Given the description of an element on the screen output the (x, y) to click on. 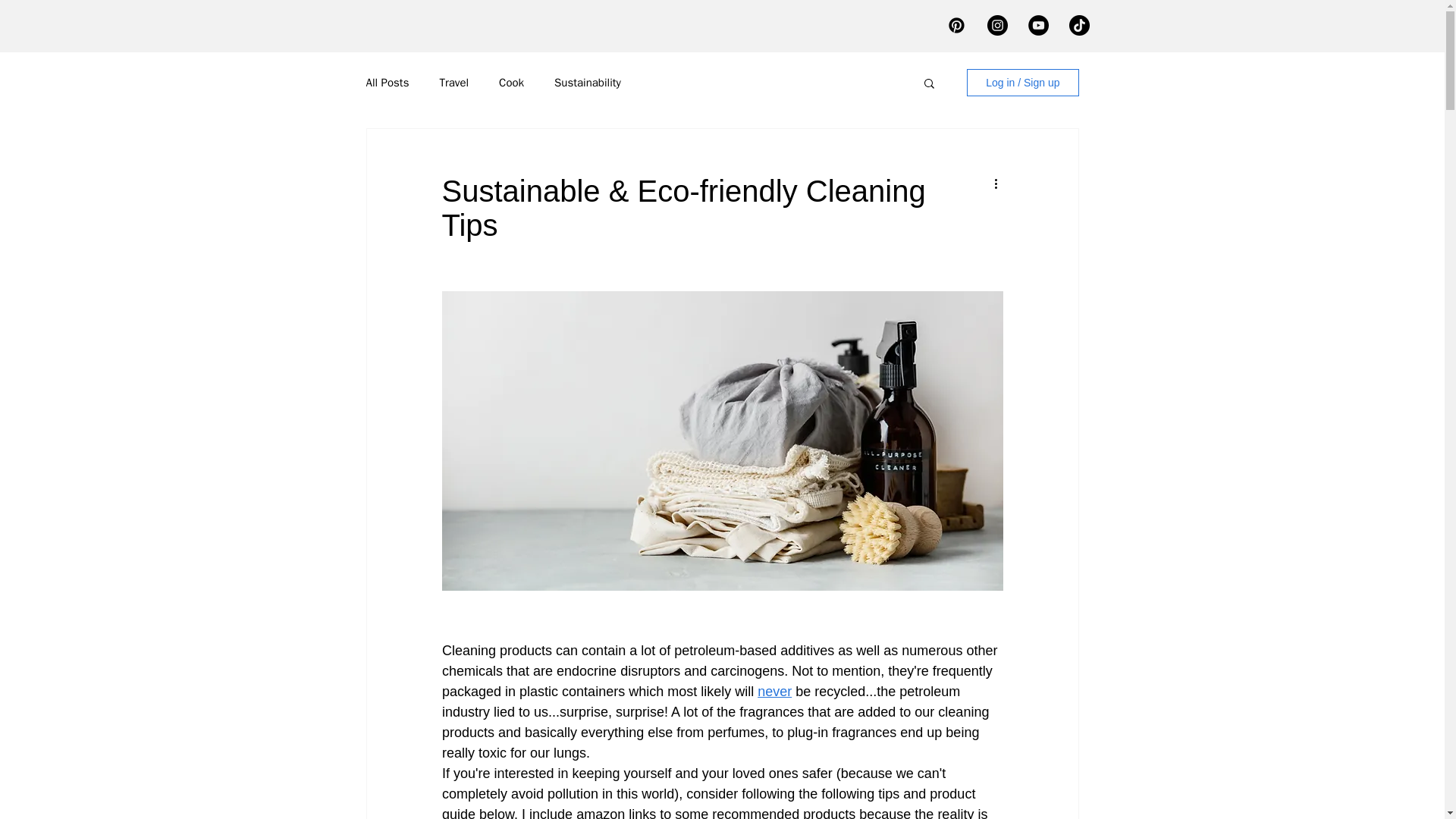
never (774, 691)
Cook (511, 83)
Travel (453, 83)
Sustainability (587, 83)
All Posts (387, 83)
